Given the description of an element on the screen output the (x, y) to click on. 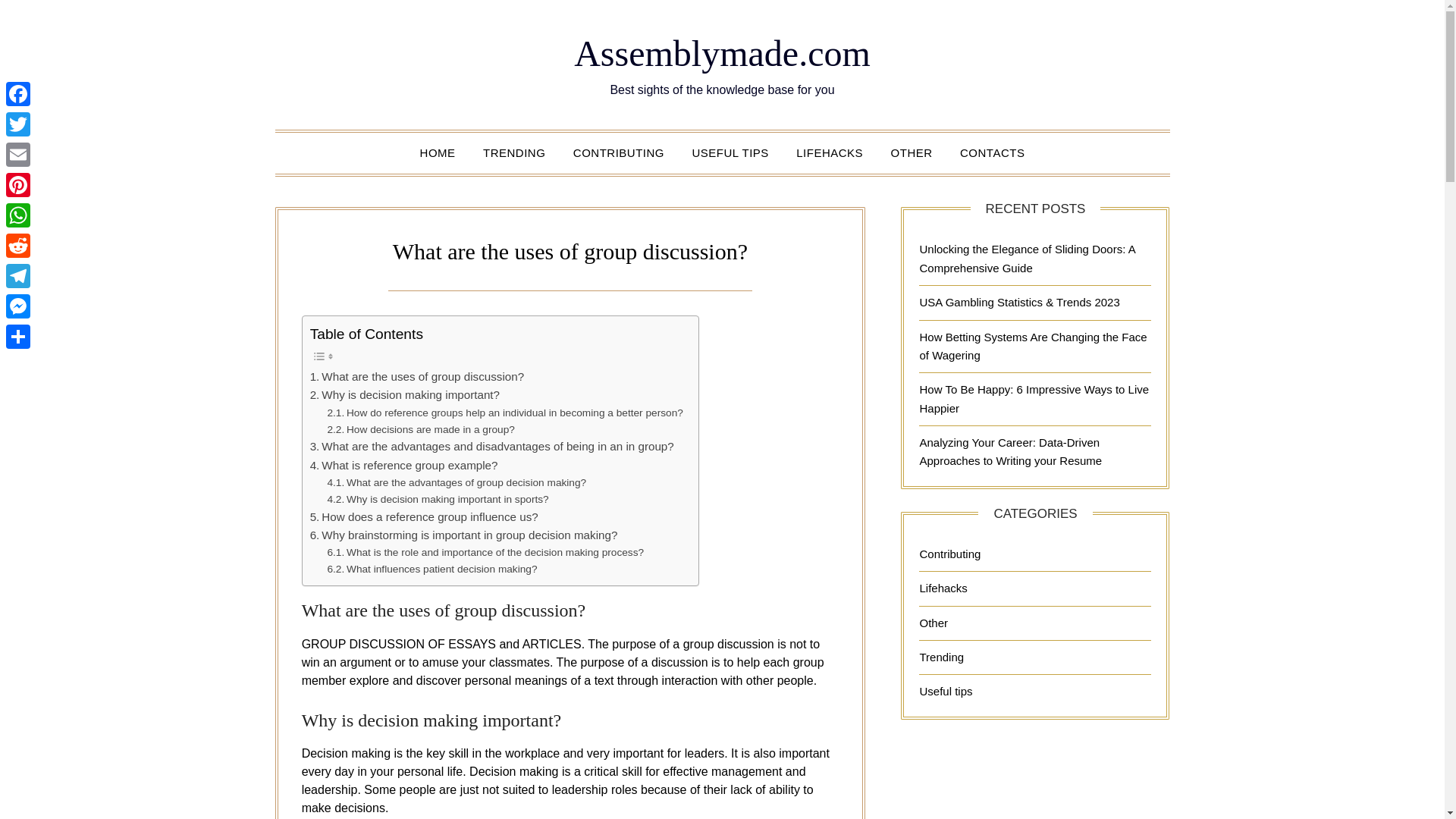
CONTRIBUTING (618, 152)
What are the uses of group discussion? (417, 376)
How decisions are made in a group? (419, 429)
HOME (437, 152)
Why is decision making important? (404, 394)
USEFUL TIPS (729, 152)
OTHER (911, 152)
LIFEHACKS (829, 152)
Why is decision making important? (404, 394)
